Given the description of an element on the screen output the (x, y) to click on. 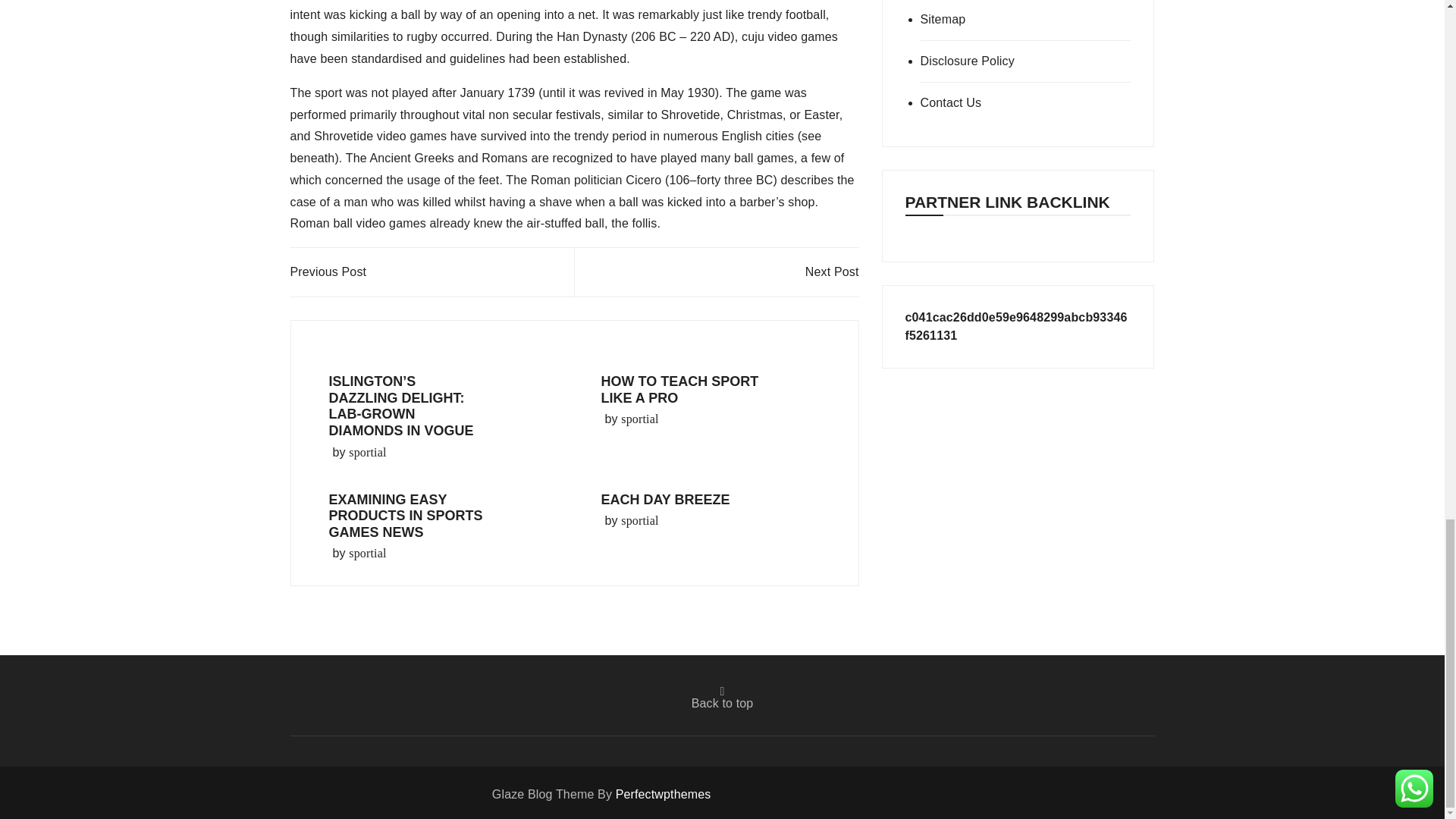
Next Post (832, 271)
sportial (367, 452)
EACH DAY BREEZE (664, 499)
EXAMINING EASY PRODUCTS IN SPORTS GAMES NEWS (406, 515)
sportial (367, 553)
HOW TO TEACH SPORT LIKE A PRO (678, 389)
sportial (639, 520)
Previous Post (327, 271)
sportial (639, 419)
